Given the description of an element on the screen output the (x, y) to click on. 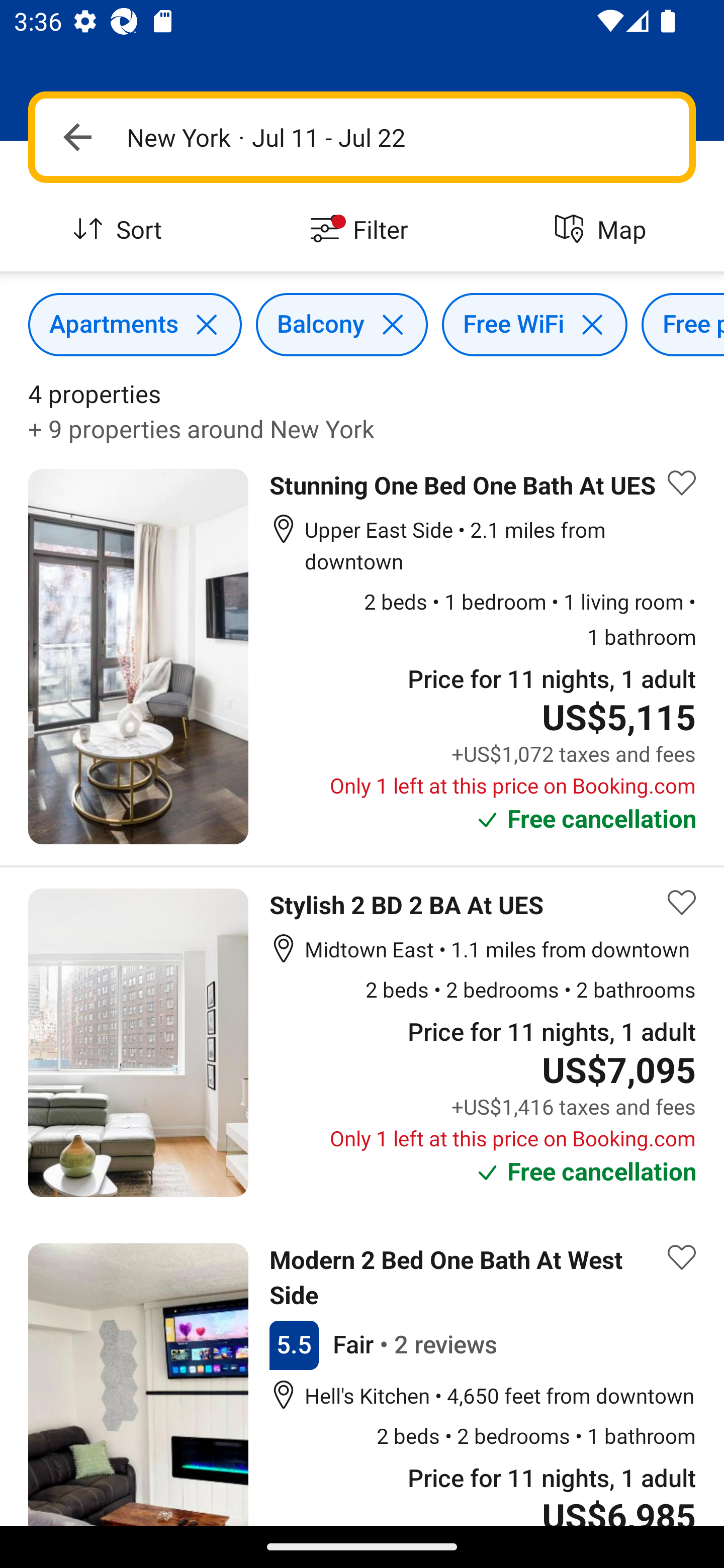
Navigate up New York · Jul 11 - Jul 22 (362, 136)
Navigate up (77, 136)
Sort (120, 230)
Filter (361, 230)
Map (603, 230)
Save property to list (681, 482)
Save property to list (681, 902)
Save property to list (681, 1257)
